Given the description of an element on the screen output the (x, y) to click on. 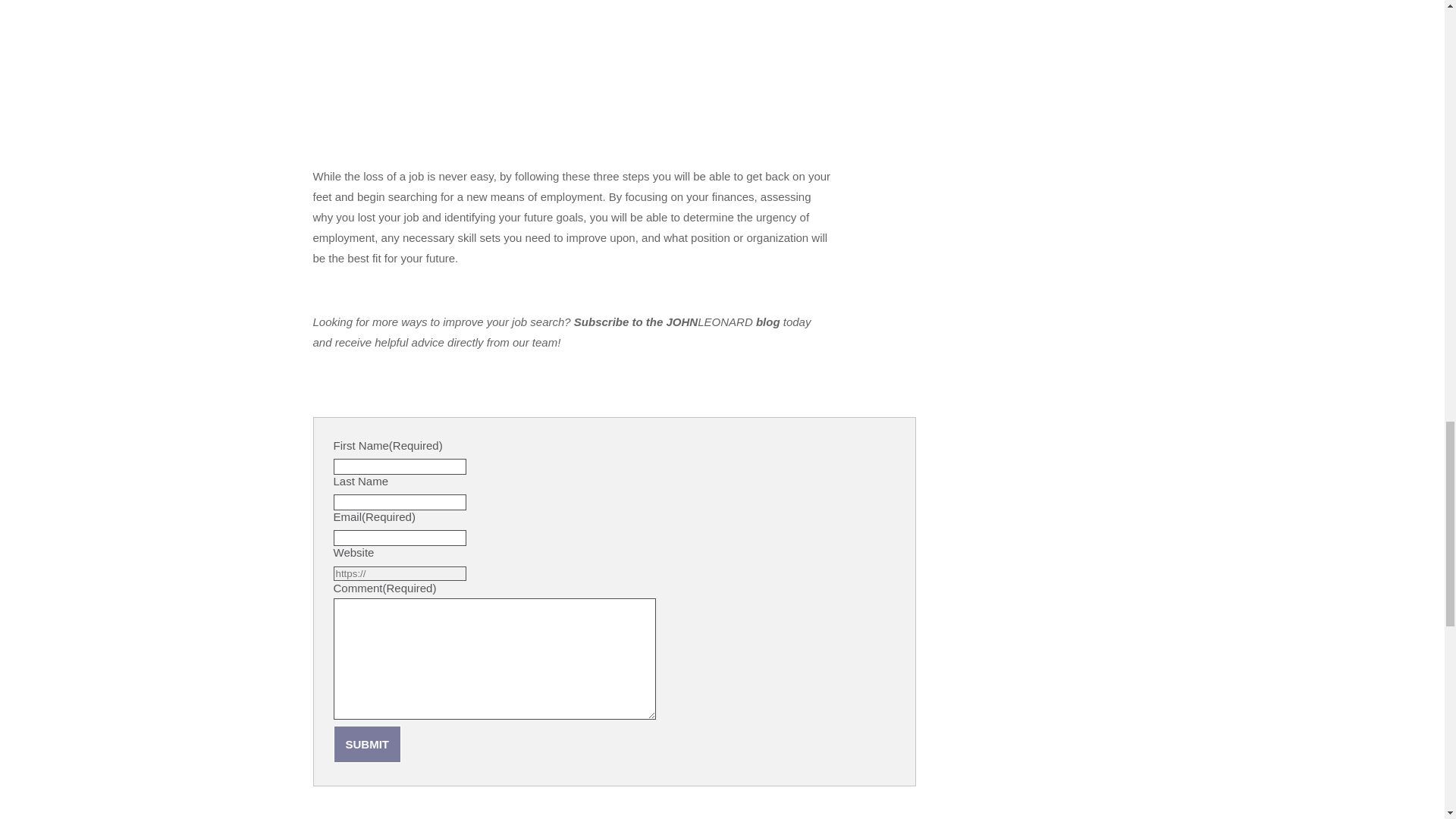
Submit (367, 743)
